Given the description of an element on the screen output the (x, y) to click on. 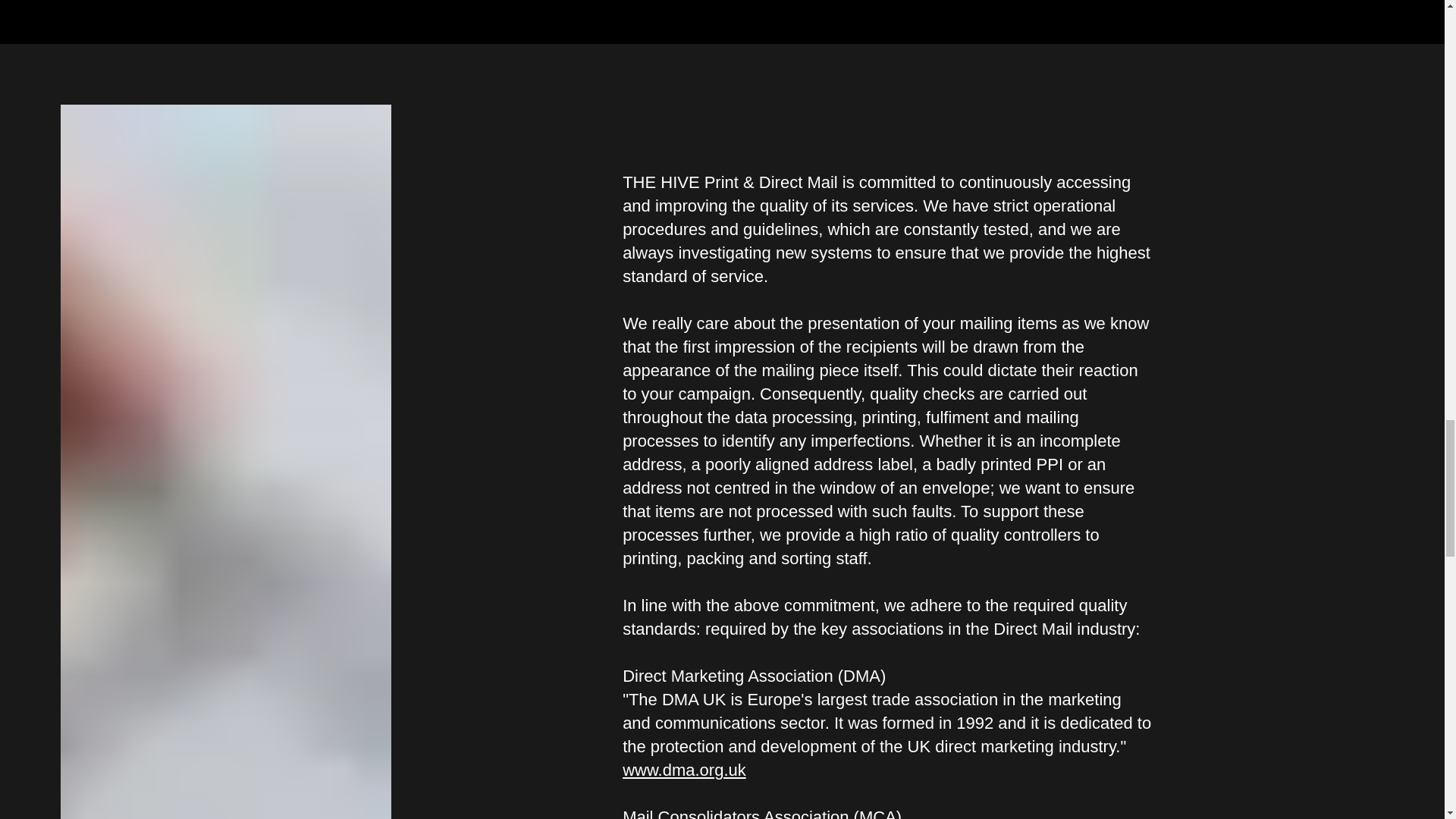
www.dma.org.uk (684, 769)
